Given the description of an element on the screen output the (x, y) to click on. 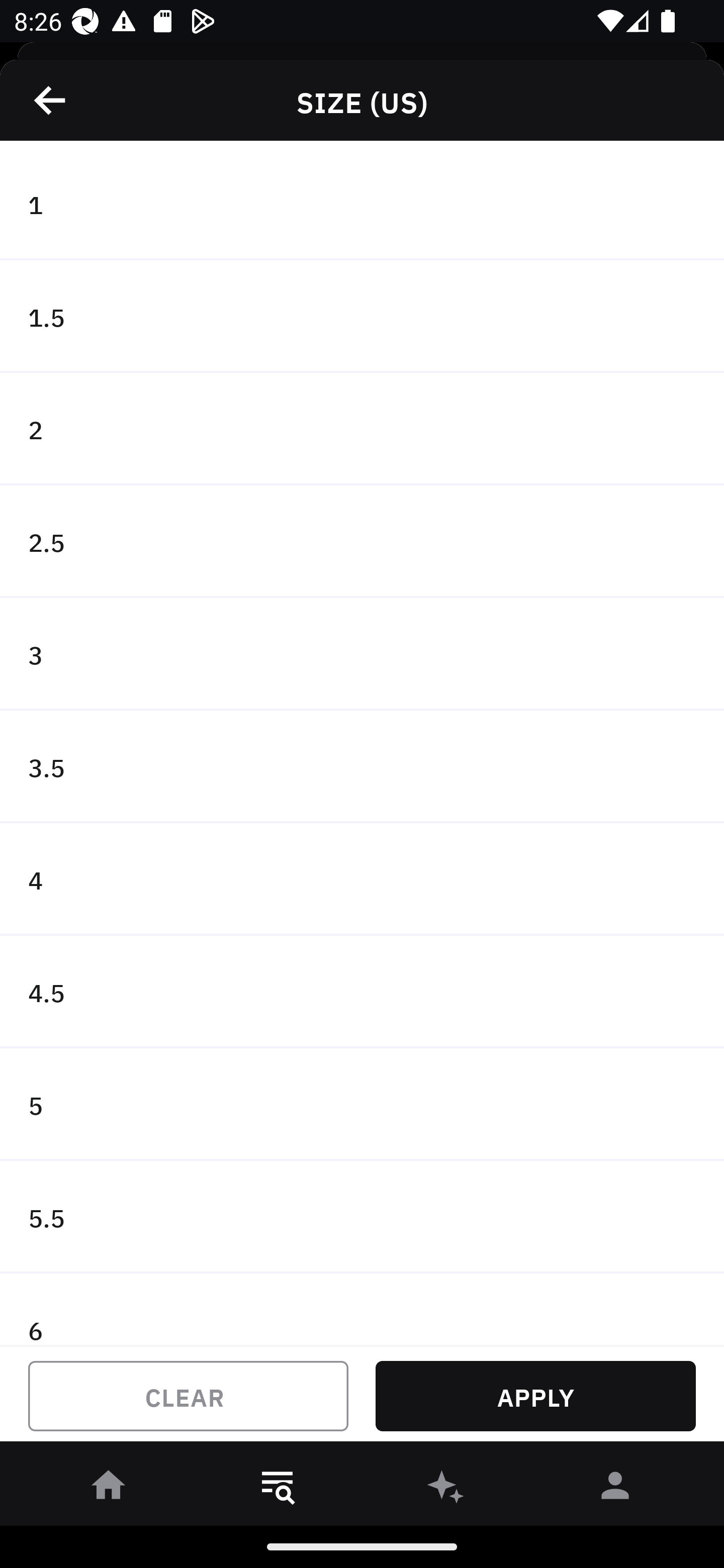
 (50, 100)
1 (362, 203)
1.5 (362, 316)
2 (362, 429)
2.5 (362, 541)
3 (362, 653)
3.5 (362, 766)
4 (362, 879)
4.5 (362, 992)
5 (362, 1104)
5.5 (362, 1216)
6 (362, 1309)
CLEAR  (188, 1396)
APPLY (535, 1396)
󰋜 (108, 1488)
󱎸 (277, 1488)
󰫢 (446, 1488)
󰀄 (615, 1488)
